Given the description of an element on the screen output the (x, y) to click on. 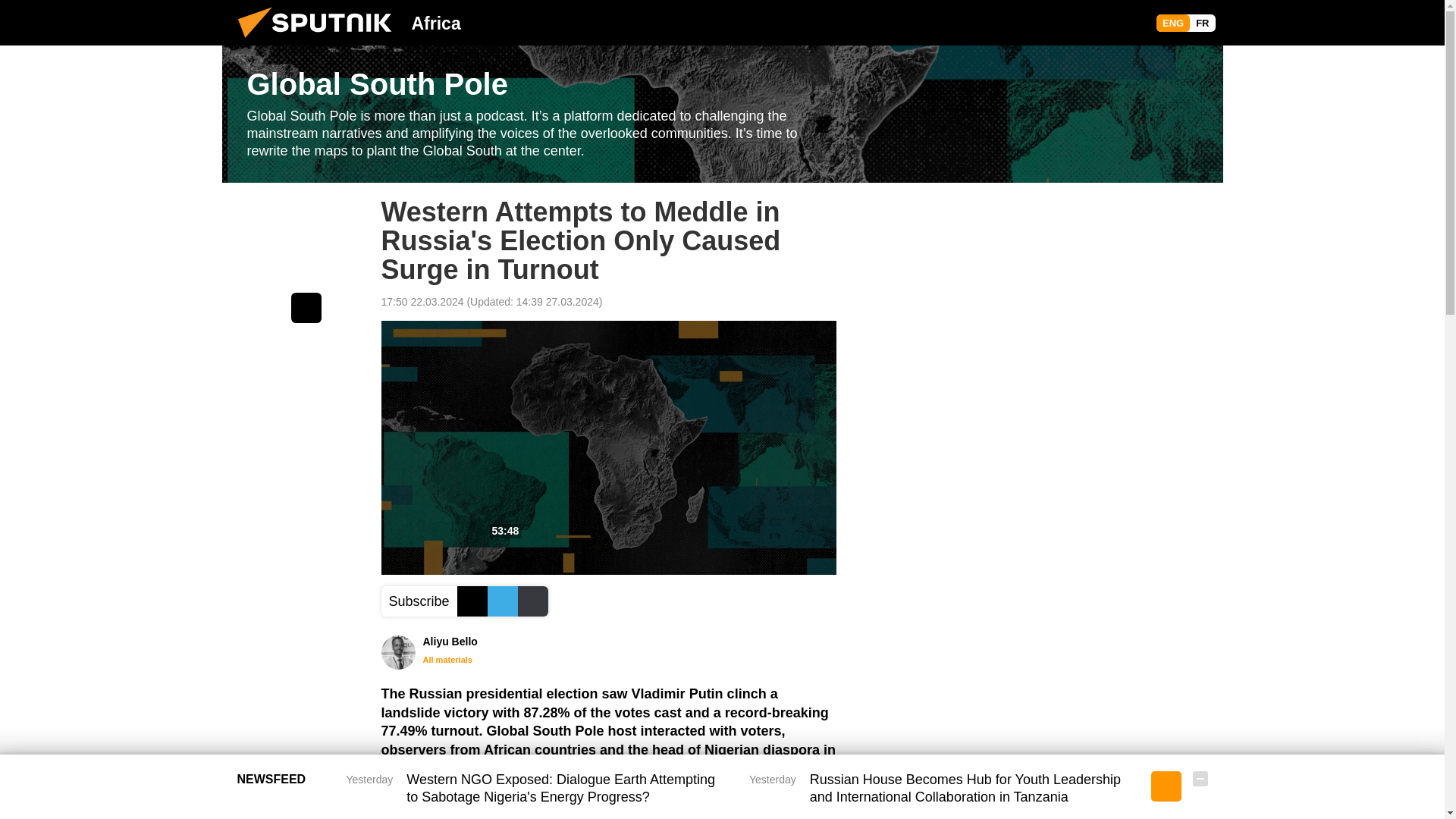
FR (1201, 22)
Sputnik Africa (319, 41)
ENG (1172, 22)
